Given the description of an element on the screen output the (x, y) to click on. 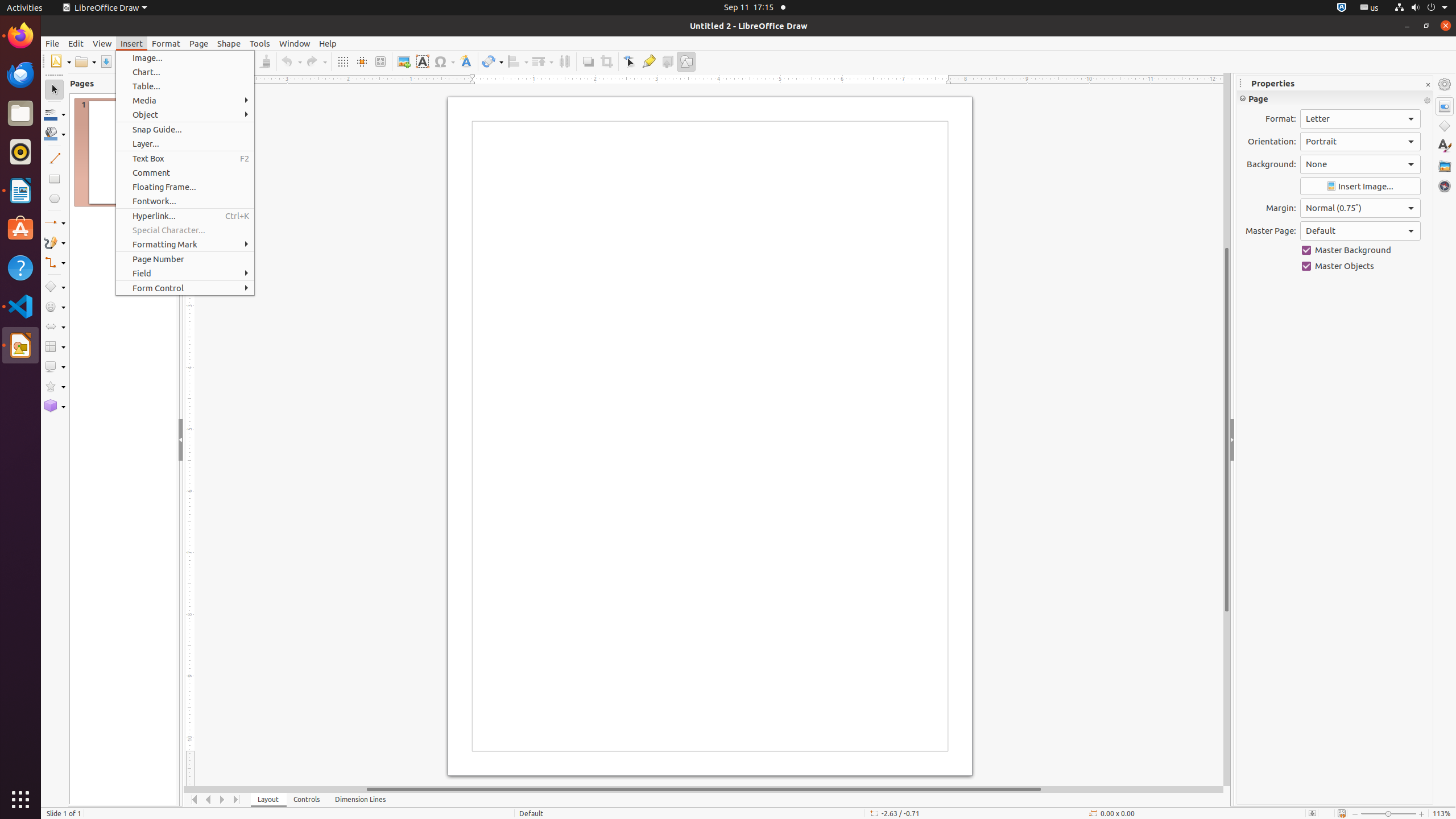
Callout Shapes Element type: push-button (54, 366)
Floating Frame... Element type: menu-item (185, 186)
Background: Element type: combo-box (1360, 164)
Snap Guide... Element type: menu-item (185, 129)
Fontwork Style Element type: toggle-button (465, 61)
